Given the description of an element on the screen output the (x, y) to click on. 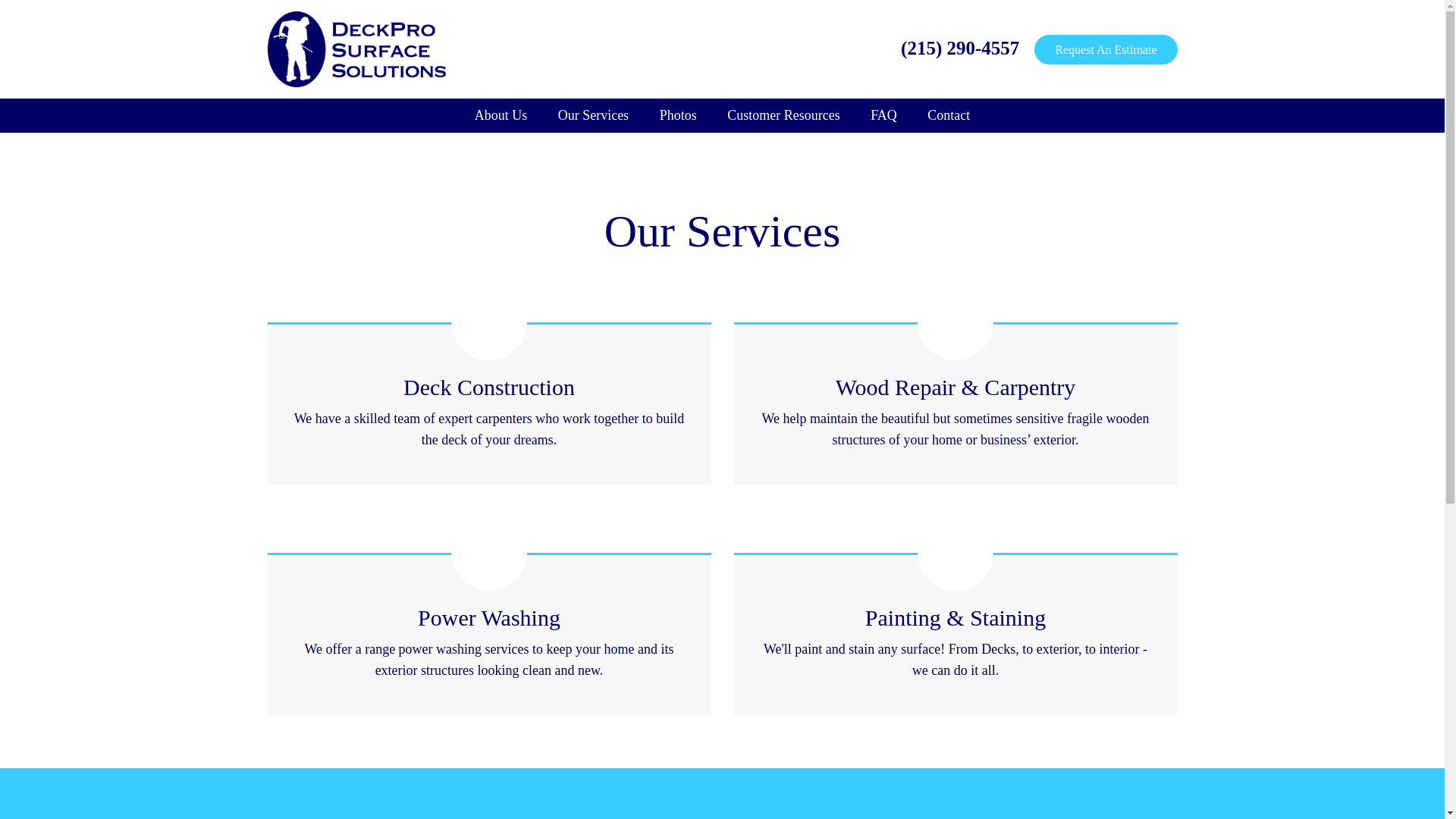
Customer Resources (783, 115)
Contact (949, 115)
Our Services (593, 115)
Photos (678, 115)
Request An Estimate (1104, 49)
FAQ (884, 115)
Deck Construction (489, 386)
Power Washing (488, 617)
